Given the description of an element on the screen output the (x, y) to click on. 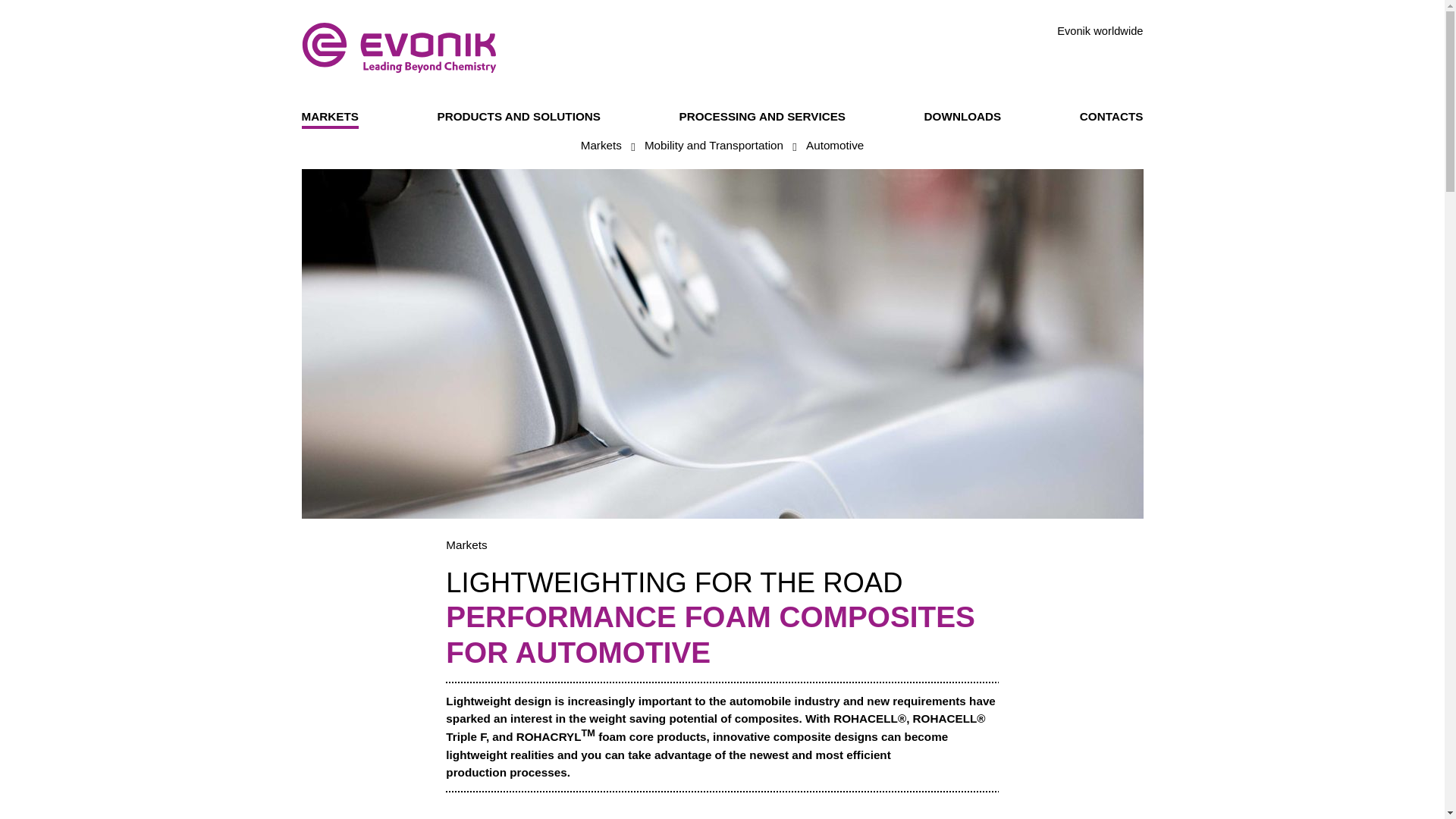
DOWNLOADS (962, 118)
PRODUCTS AND SOLUTIONS (517, 118)
Evonik Industries AG (398, 47)
Products and Solutions (517, 118)
Evonik worldwide (1099, 31)
Mobility and Transportation (714, 147)
Automotive (834, 147)
Mobility and Transportation (714, 147)
Contacts (1111, 118)
PROCESSING AND SERVICES (762, 118)
